Given the description of an element on the screen output the (x, y) to click on. 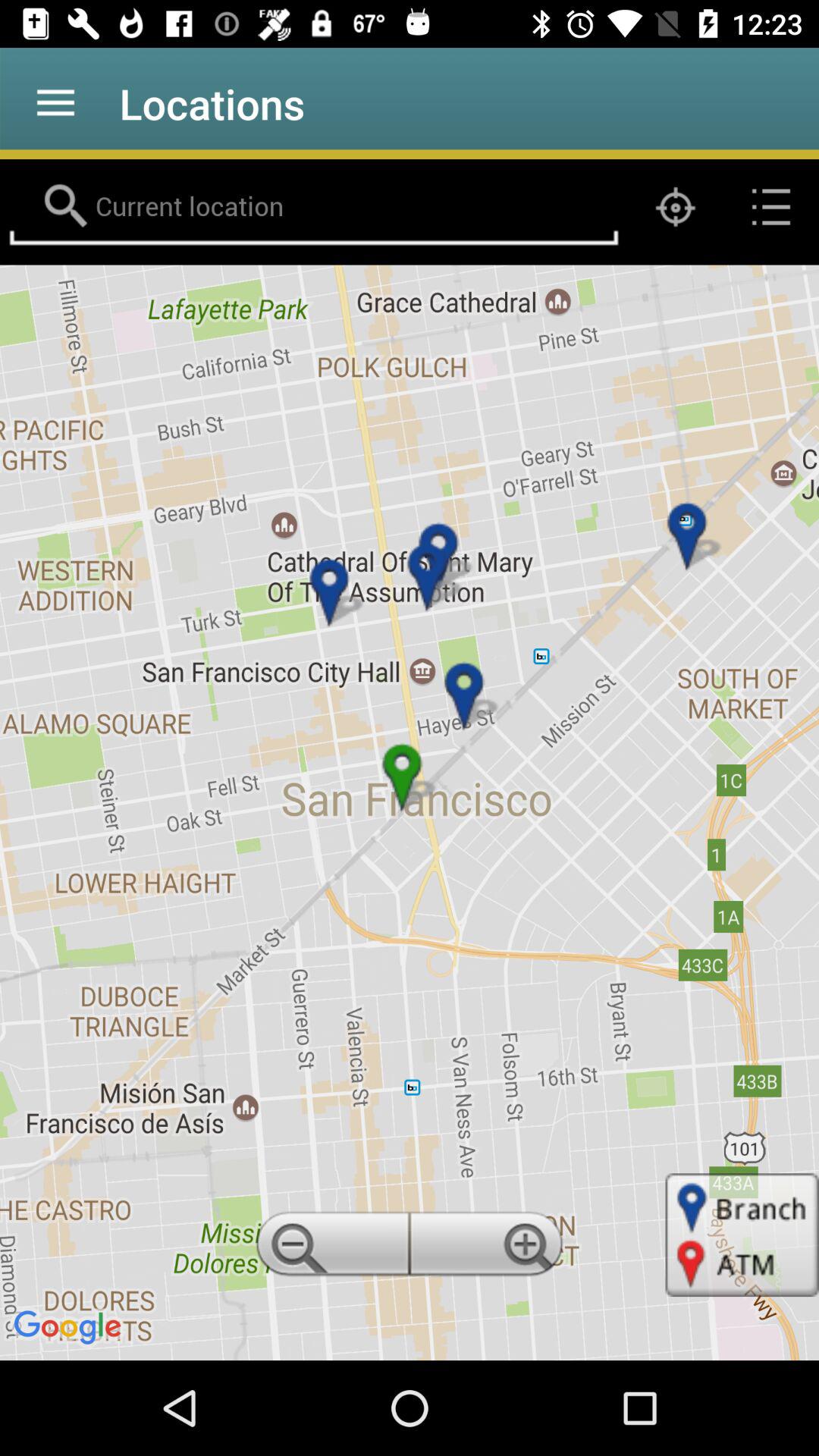
zoom in (488, 1248)
